Given the description of an element on the screen output the (x, y) to click on. 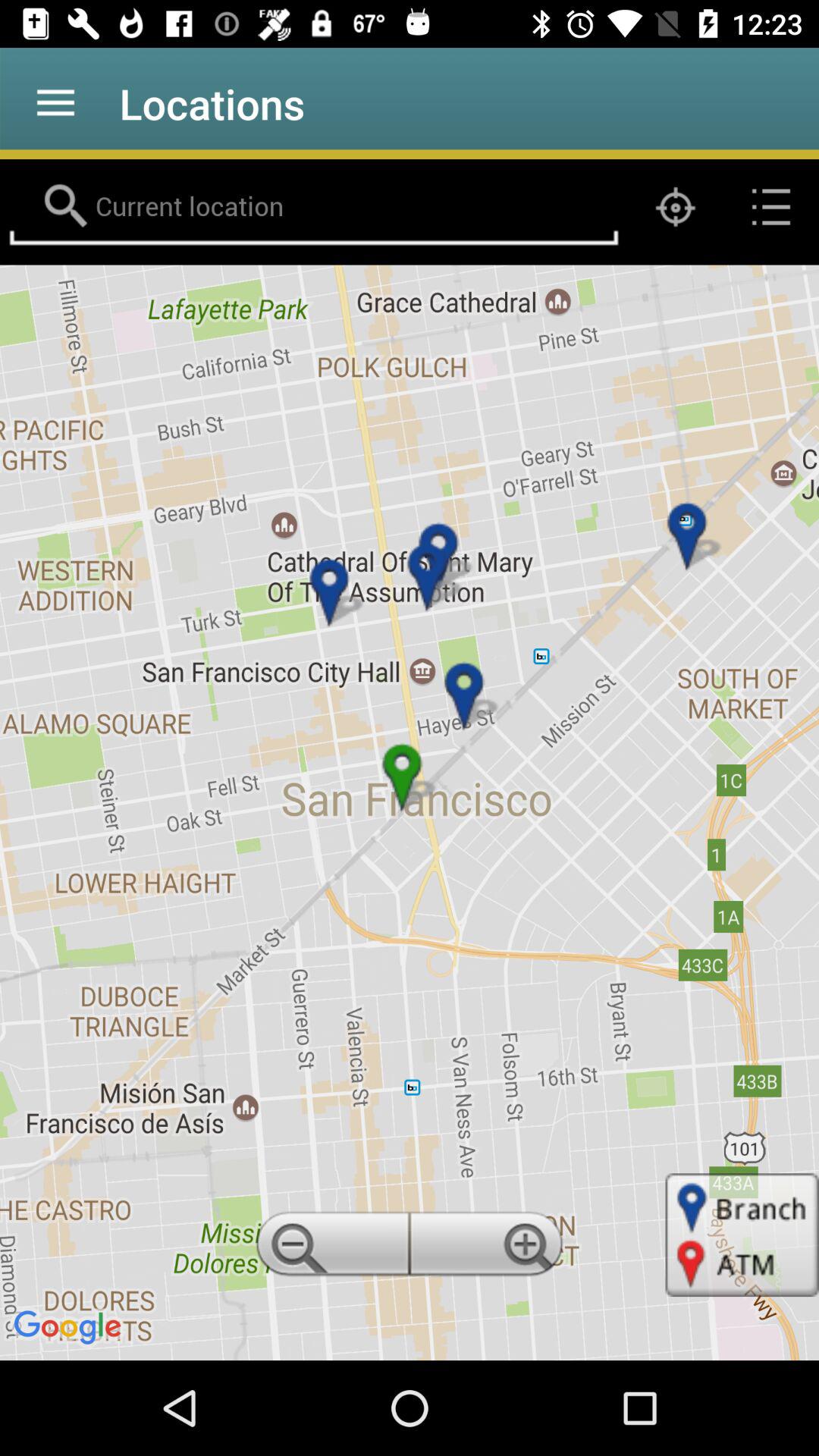
zoom in (488, 1248)
